Given the description of an element on the screen output the (x, y) to click on. 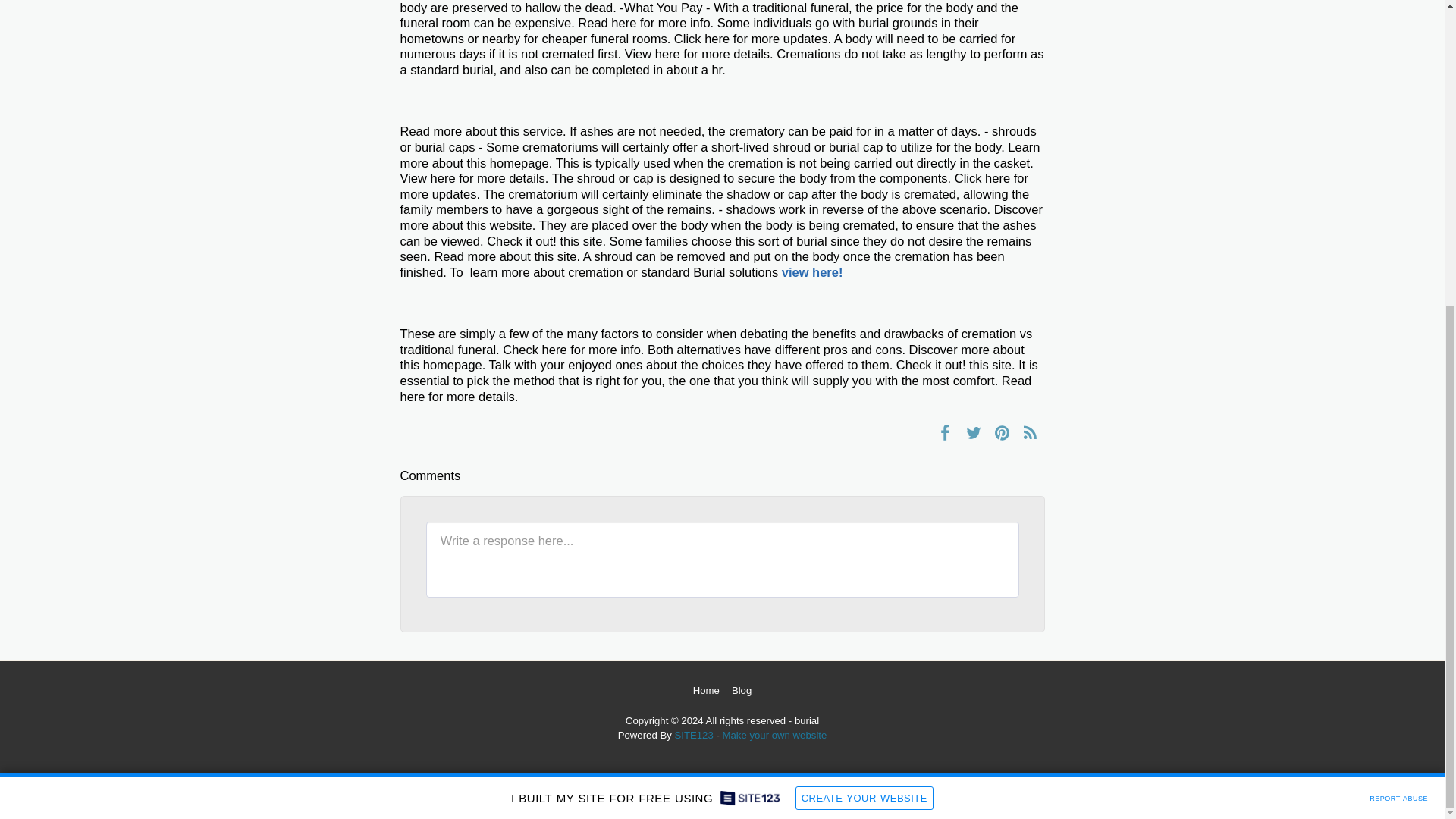
Share on Facebook (945, 432)
Blog (741, 690)
Pin it (1002, 432)
REPORT ABUSE (1398, 317)
view here! (812, 272)
Tweet (973, 432)
RSS (1029, 432)
Home (706, 690)
Make your own website (774, 735)
SITE123 (693, 735)
